Given the description of an element on the screen output the (x, y) to click on. 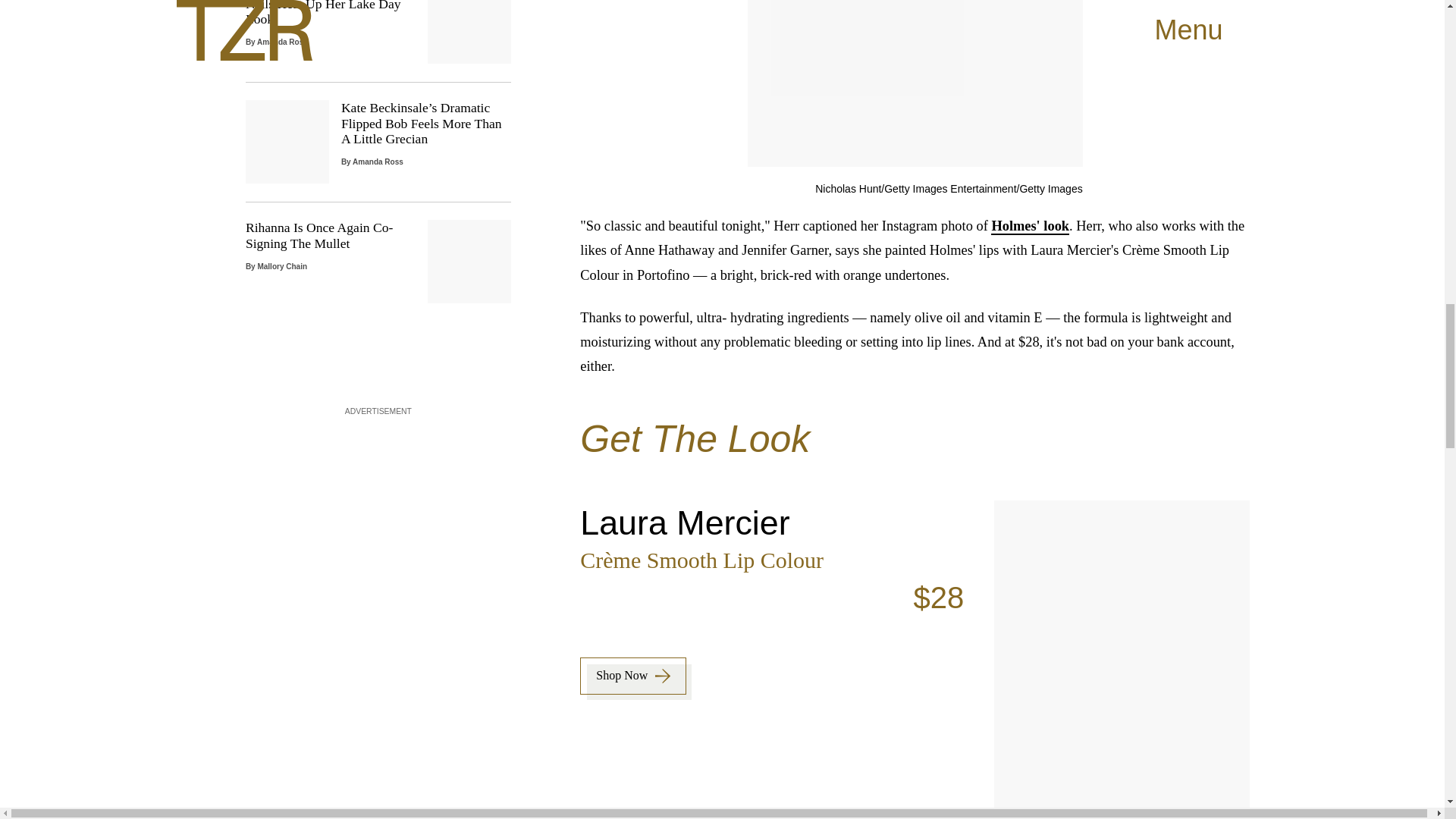
Holmes' look (1029, 226)
Shop Now (378, 261)
